Given the description of an element on the screen output the (x, y) to click on. 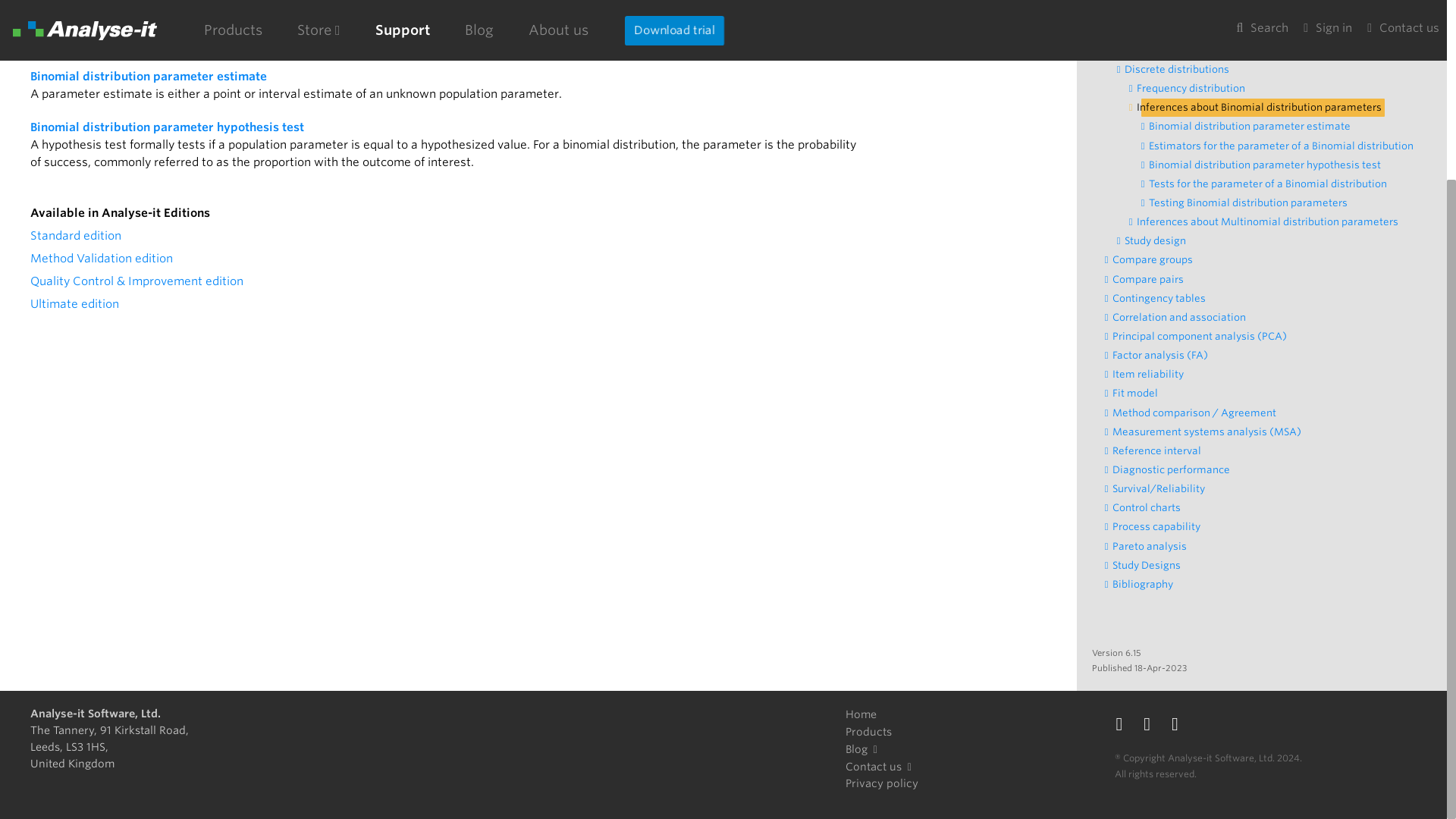
 Estimators for the parameter of a Binomial distribution (1284, 146)
Binomial distribution parameter hypothesis test (166, 126)
 Testing Binomial distribution parameters (1252, 203)
 Frequency distribution (1195, 88)
 Reference interval (1160, 451)
 Compare groups (1156, 259)
 Inferences about Multinomial distribution parameters (1271, 221)
 Item reliability (1152, 374)
Standard edition (75, 235)
 Statistical Reference Guide (1169, 13)
